Given the description of an element on the screen output the (x, y) to click on. 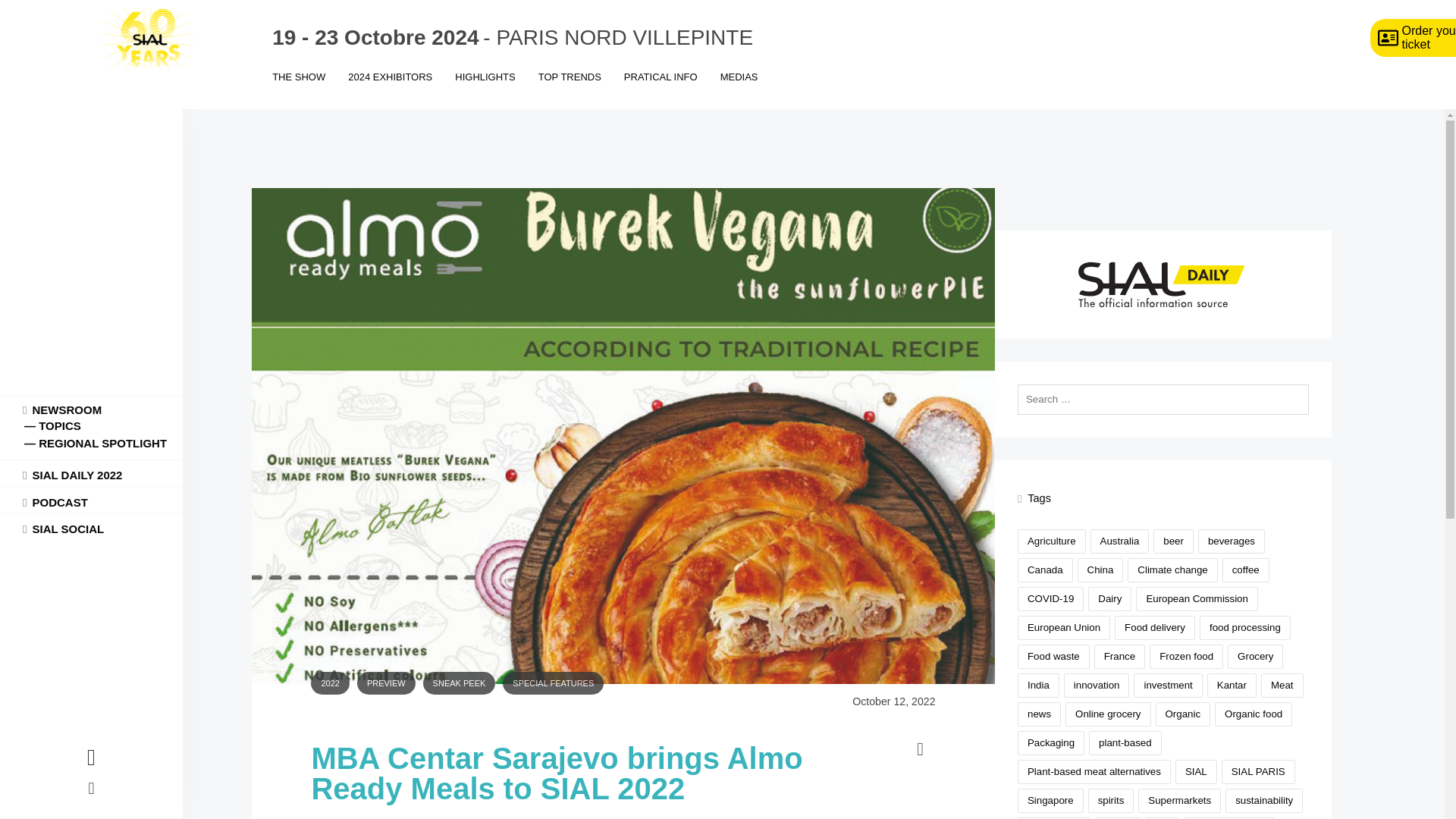
HIGHLIGHTS (484, 87)
TOP TRENDS (569, 87)
THE SHOW (298, 87)
List of 2024 exhibitors (390, 87)
PRATICAL INFO (660, 87)
2024 EXHIBITORS (390, 87)
MEDIAS (739, 87)
